Given the description of an element on the screen output the (x, y) to click on. 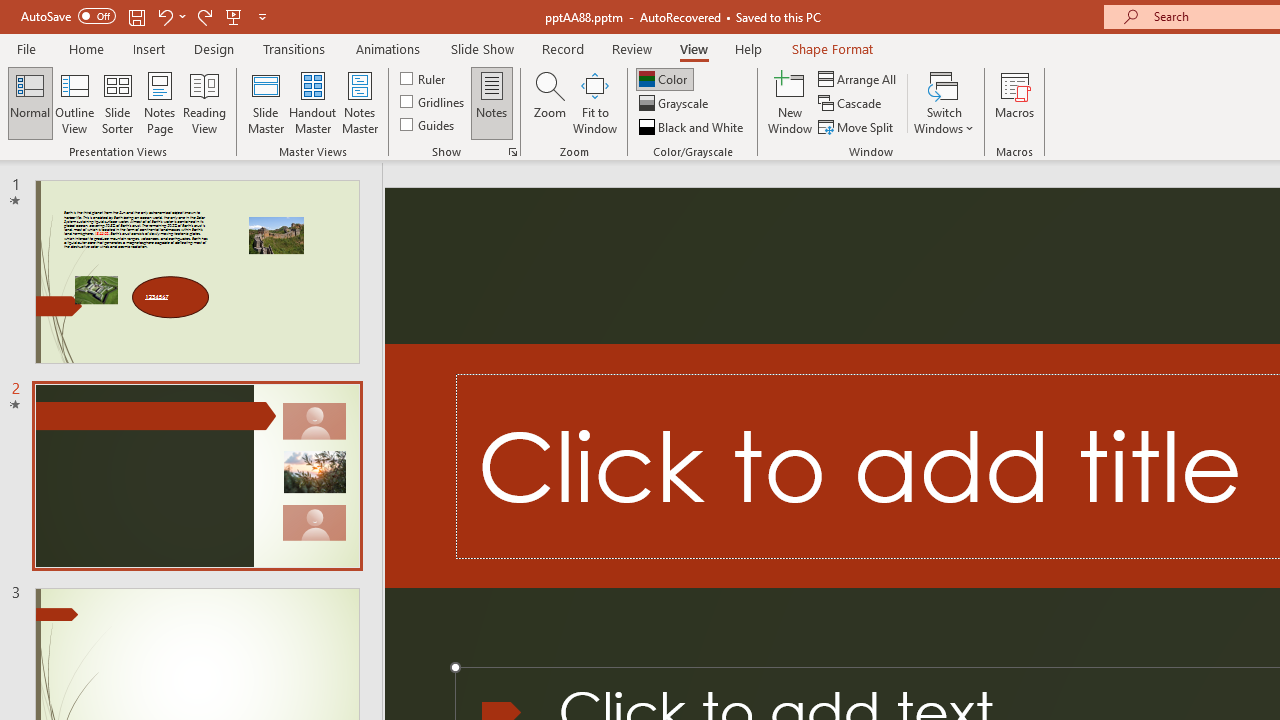
Gridlines (433, 101)
Black and White (693, 126)
Move Split (857, 126)
Color (664, 78)
Slide Master (265, 102)
Handout Master (312, 102)
Notes Master (360, 102)
